Given the description of an element on the screen output the (x, y) to click on. 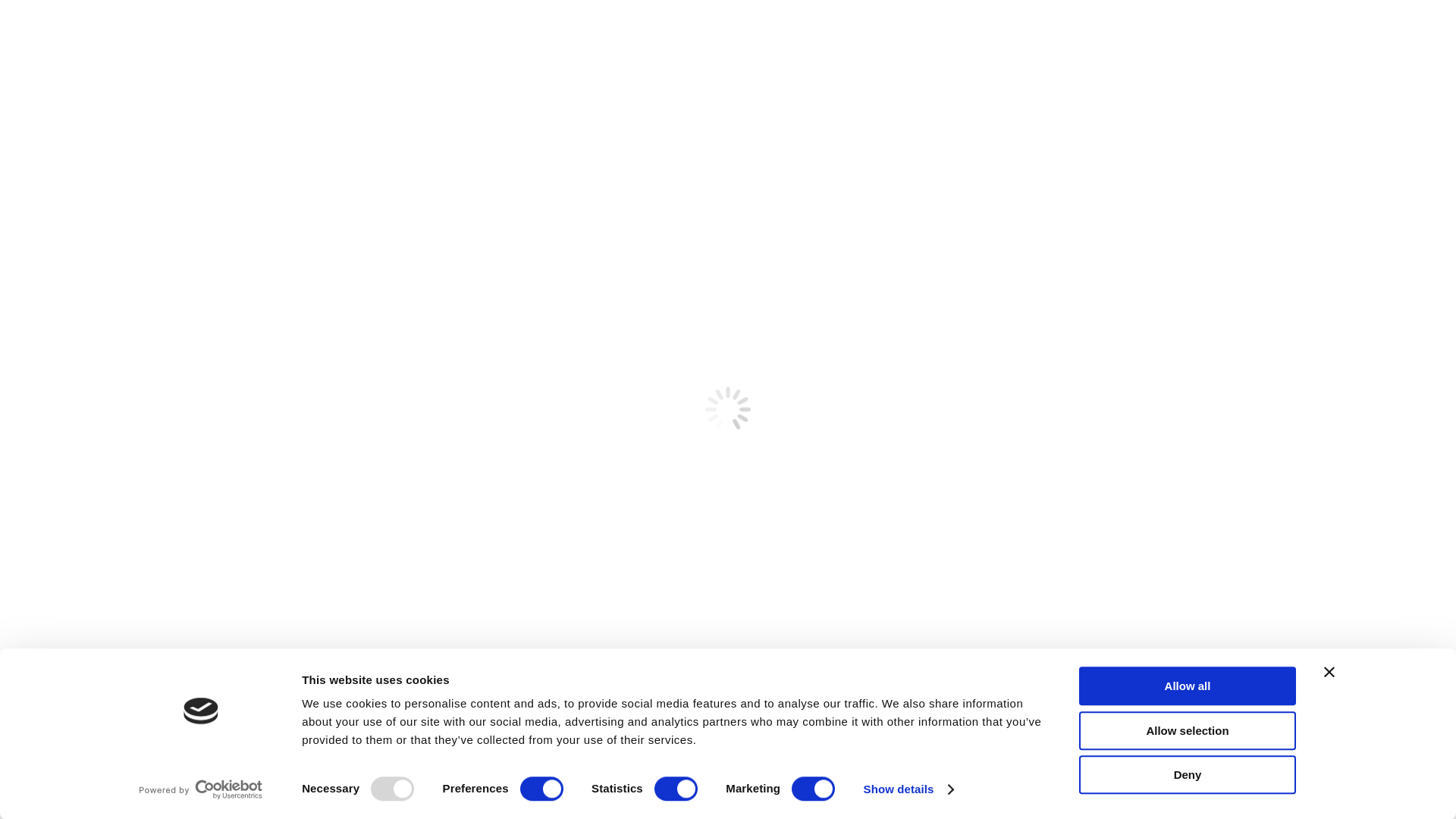
Vai! Element type: text (24, 15)
Ristorante Element type: text (955, 35)
Vai! Element type: text (1207, 159)
Jackpot Element type: text (750, 35)
Cookie Policy Element type: text (1027, 552)
Privacy Policy Element type: text (954, 552)
Allow selection Element type: text (1187, 730)
Contatti Element type: text (1244, 35)
Show details Element type: text (908, 789)
Homepage Element type: text (680, 35)
Deny Element type: text (1187, 774)
Gioco Responsabile Element type: text (1151, 35)
News & Eventi Element type: text (1040, 35)
Allow all Element type: text (1187, 685)
Lucky Pack Element type: text (822, 35)
